Given the description of an element on the screen output the (x, y) to click on. 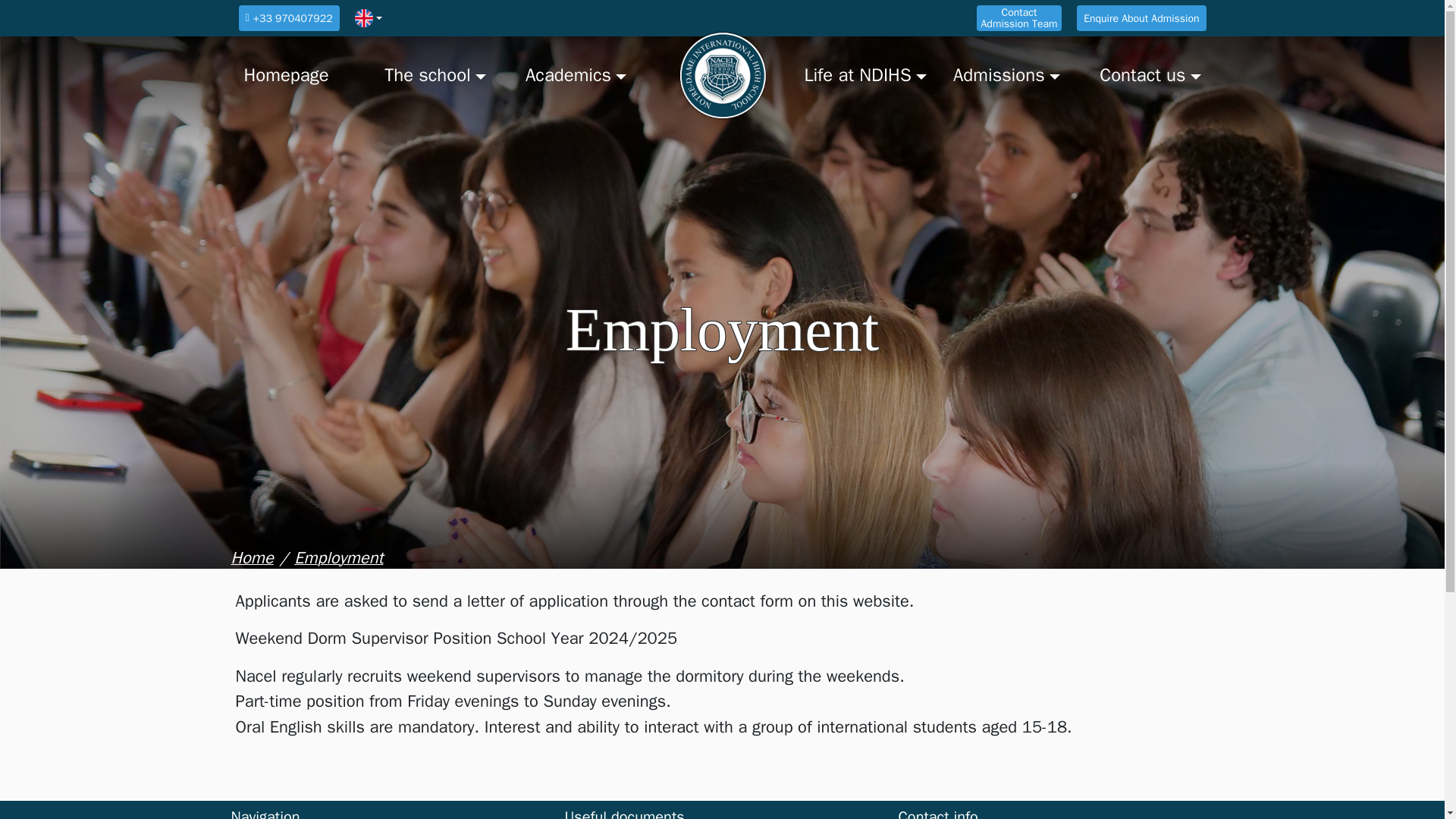
Enquire About Admission (1141, 18)
Homepage (300, 75)
Get a Call Back (1018, 18)
Life at NDIHS (861, 75)
Admissions (1002, 75)
Contact us (1143, 75)
The school (441, 75)
Academics (582, 75)
